Given the description of an element on the screen output the (x, y) to click on. 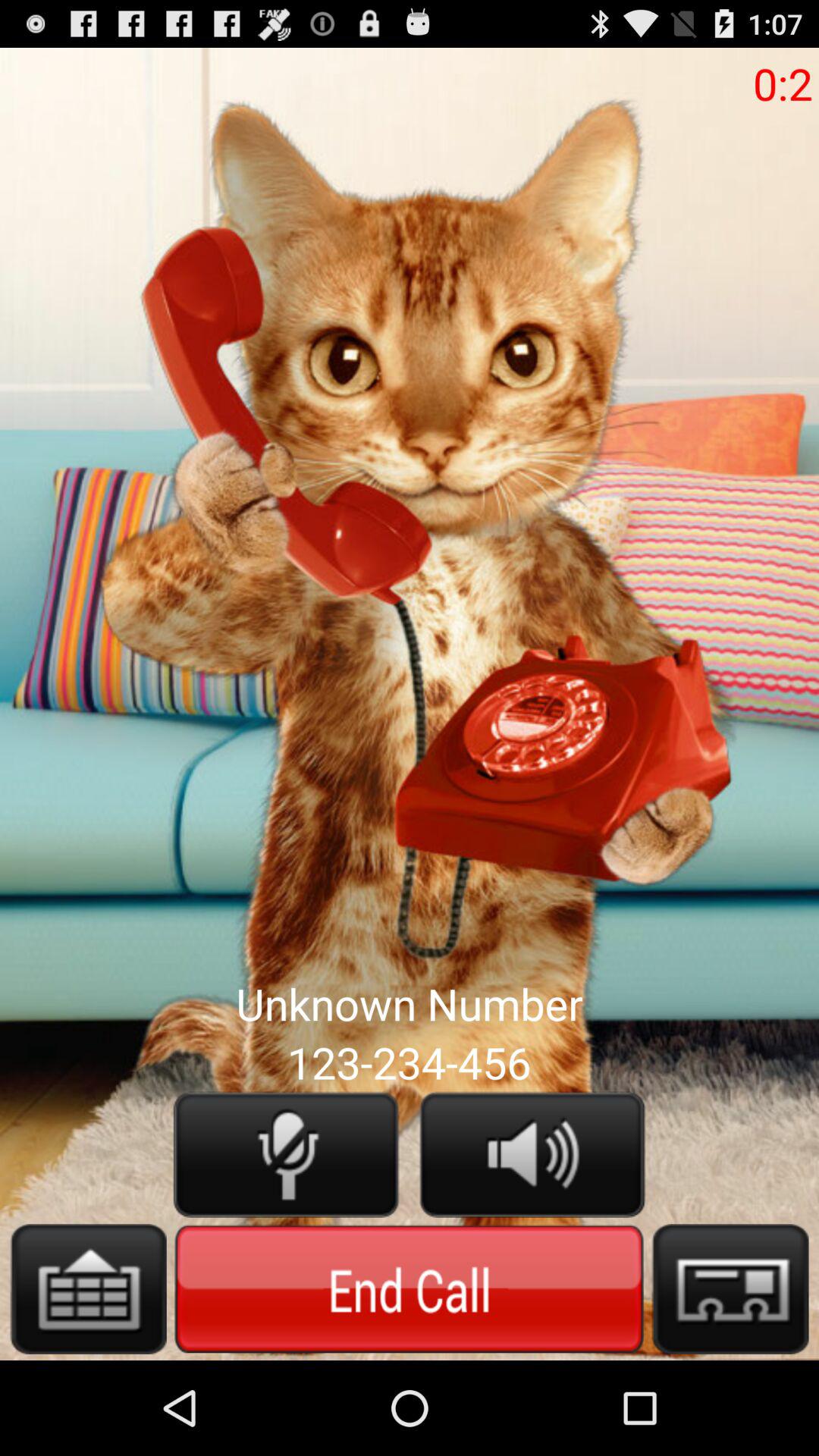
endcall (408, 1288)
